Given the description of an element on the screen output the (x, y) to click on. 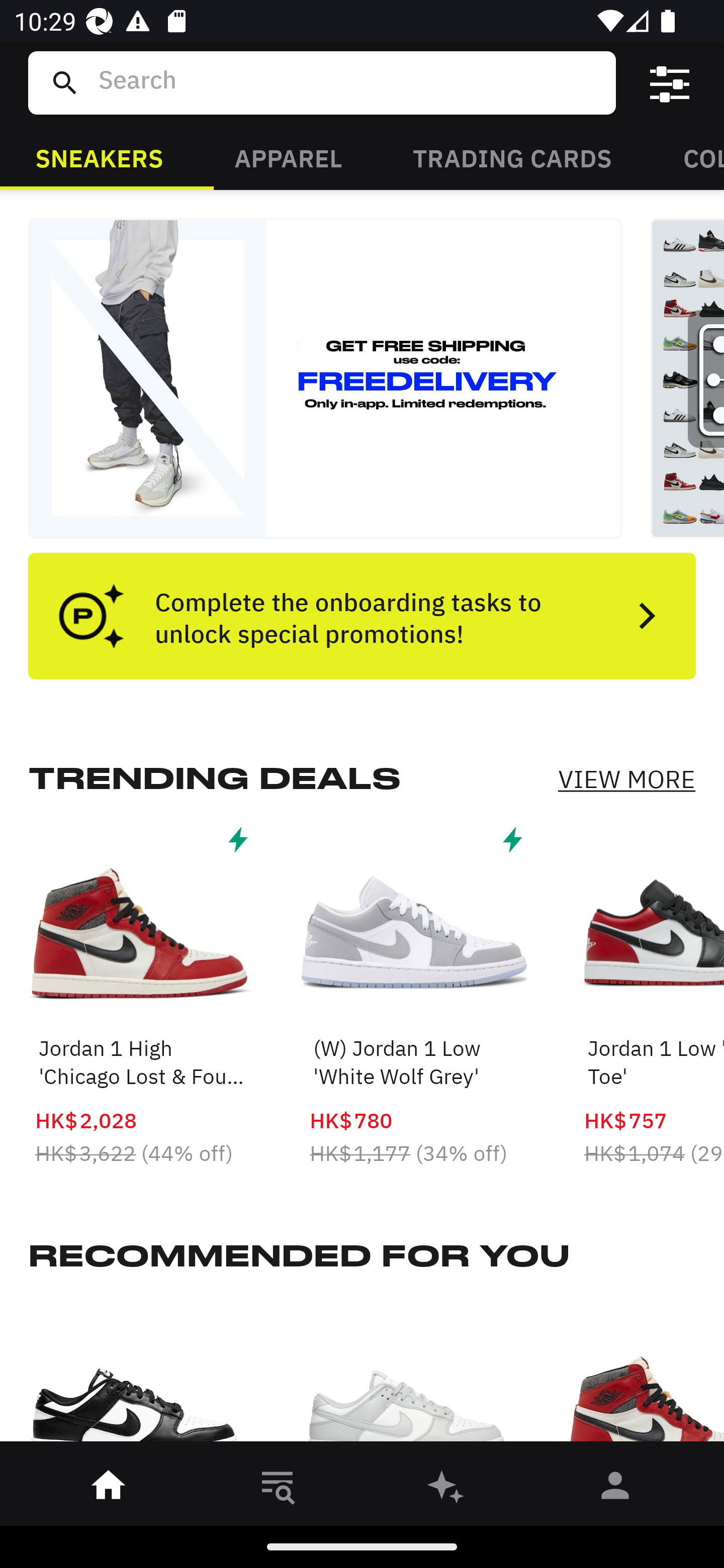
Search (349, 82)
 (669, 82)
SNEAKERS (99, 156)
APPAREL (287, 156)
TRADING CARDS (512, 156)
VIEW MORE (626, 779)
󰋜 (108, 1488)
󱎸 (277, 1488)
󰫢 (446, 1488)
󰀄 (615, 1488)
